Given the description of an element on the screen output the (x, y) to click on. 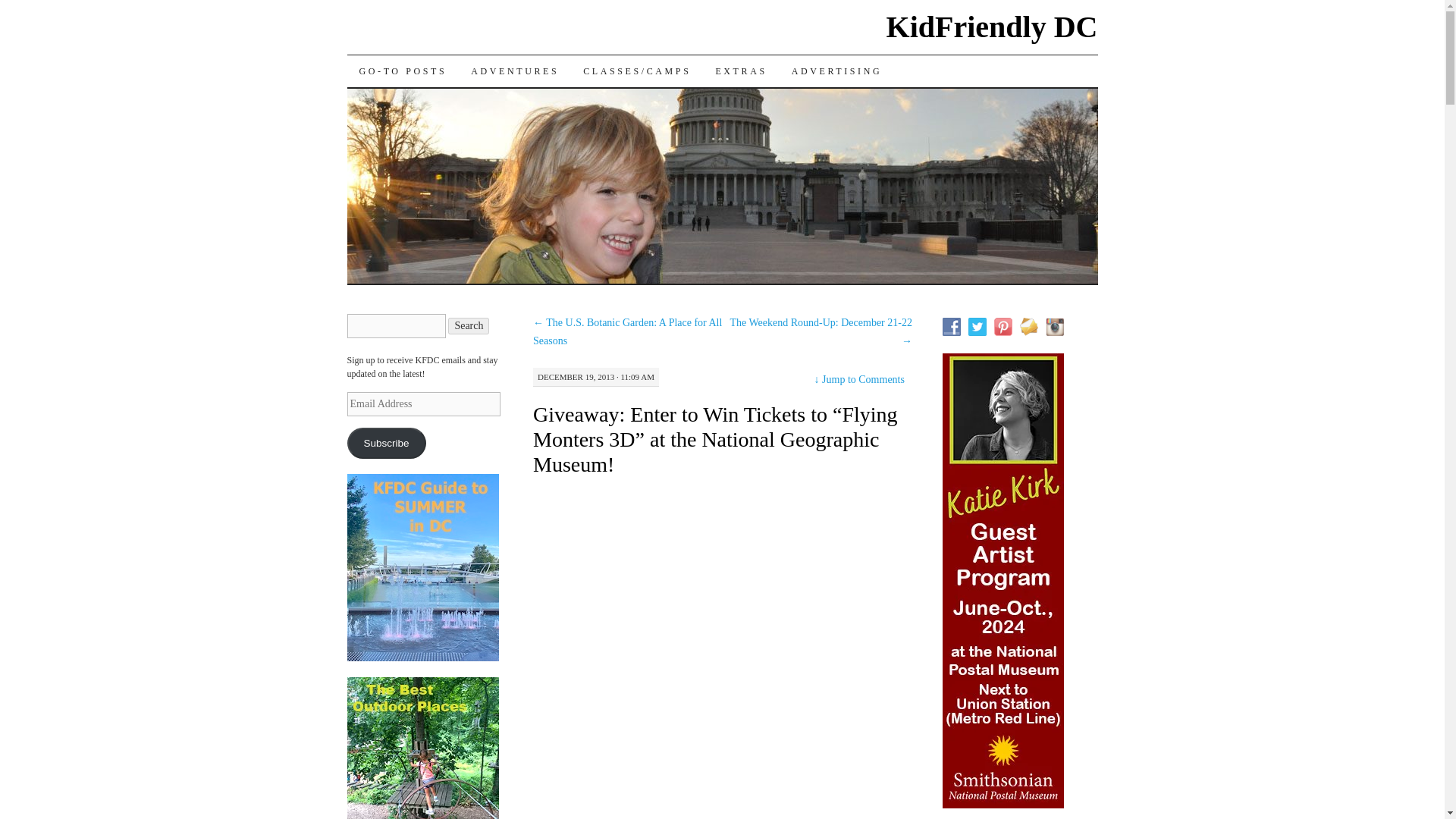
Follow Us on Twitter (977, 326)
Search (468, 325)
Follow Us on Instagram (1054, 326)
Follow Us on Pinterest (1002, 326)
Follow Us on Facebook (951, 326)
Seasonal Fun (514, 70)
KidFriendly DC (991, 26)
KidFriendly DC (991, 26)
ADVENTURES (514, 70)
Follow Us on E-mail (1029, 326)
